Given the description of an element on the screen output the (x, y) to click on. 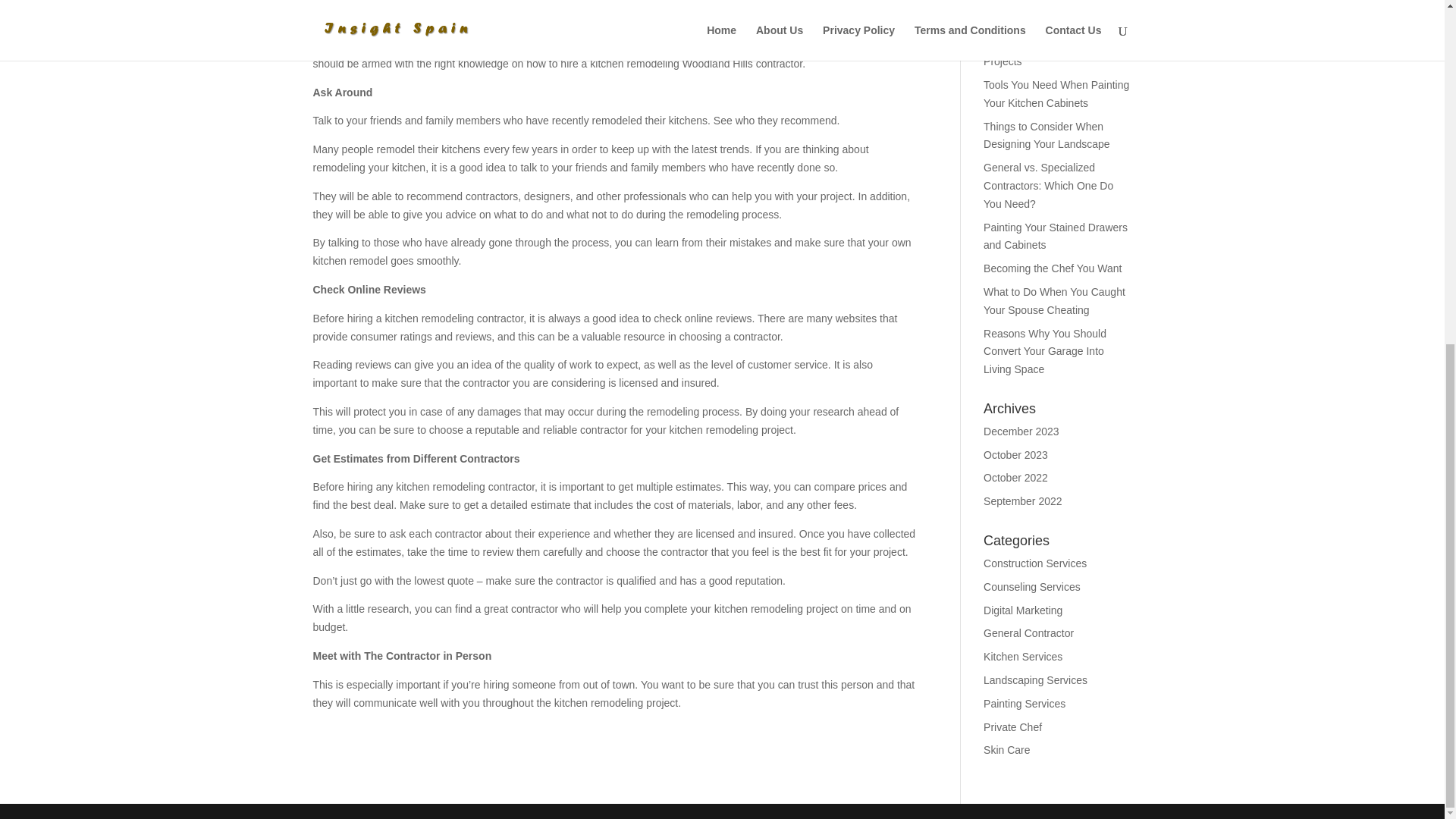
Painting Your Stained Drawers and Cabinets (1055, 236)
Construction Services (1035, 563)
Counseling Services (1032, 586)
Kitchen Services (1023, 656)
General Contractor (1029, 633)
Things to Consider When Designing Your Landscape (1046, 135)
Private Chef (1013, 727)
December 2023 (1021, 431)
What to Do When You Caught Your Spouse Cheating (1054, 300)
Becoming the Chef You Want (1052, 268)
